Given the description of an element on the screen output the (x, y) to click on. 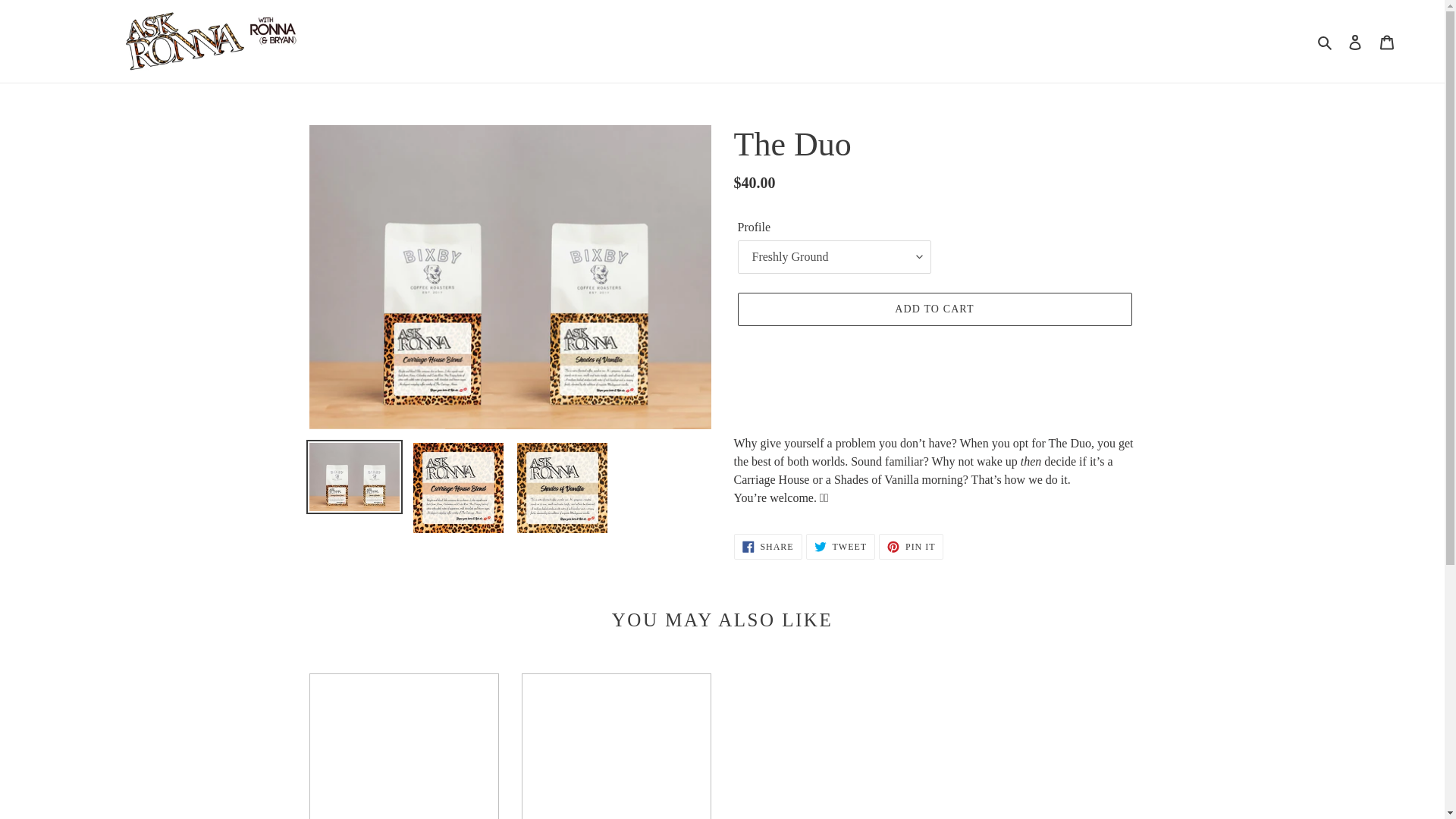
Search (1326, 41)
Carriage House Blend (616, 746)
ADD TO CART (933, 308)
Shades of Vanilla (403, 746)
Cart (1387, 40)
Log in (840, 546)
